Given the description of an element on the screen output the (x, y) to click on. 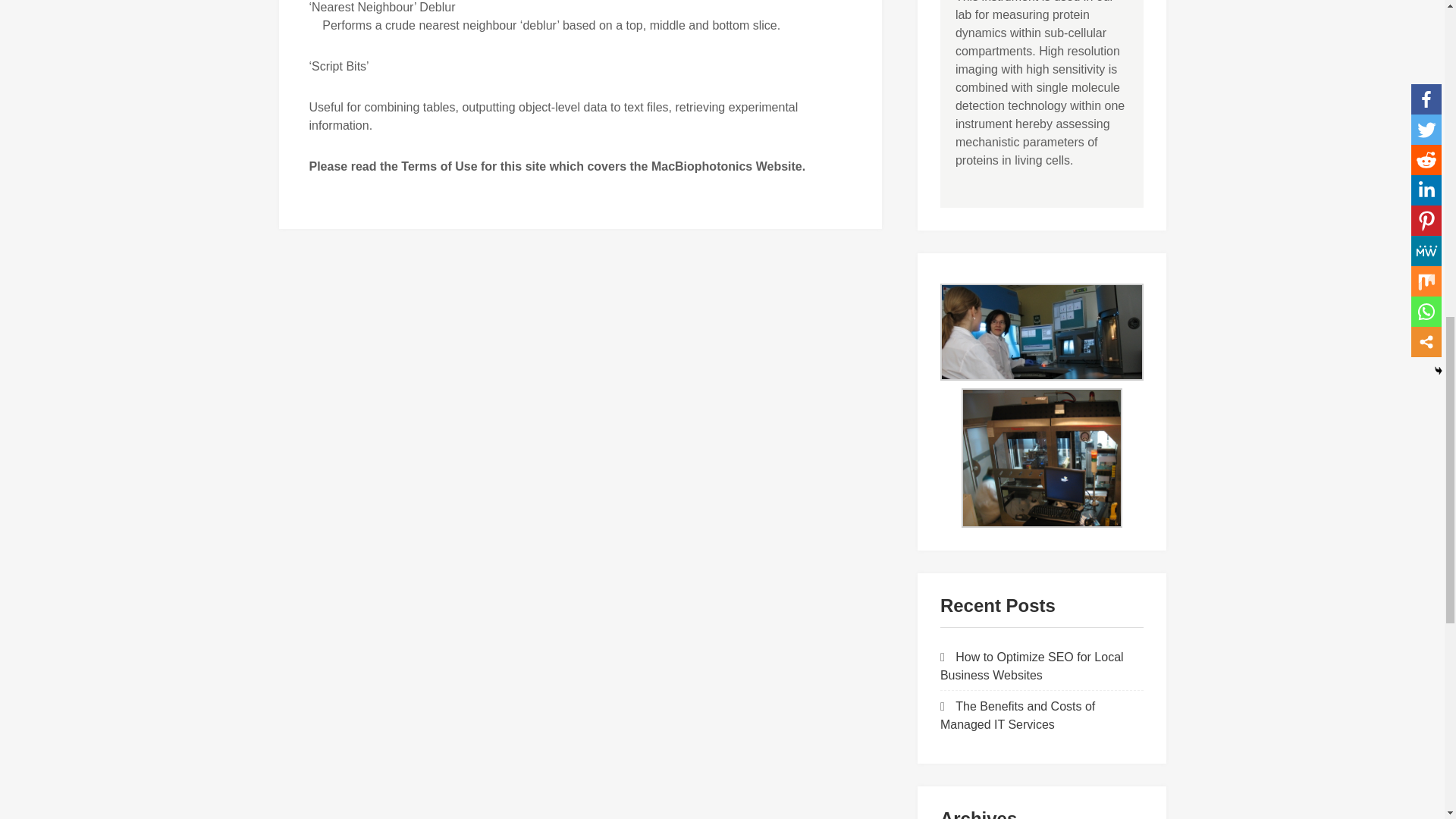
How to Optimize SEO for Local Business Websites (1032, 665)
The Benefits and Costs of Managed IT Services (1017, 715)
